Given the description of an element on the screen output the (x, y) to click on. 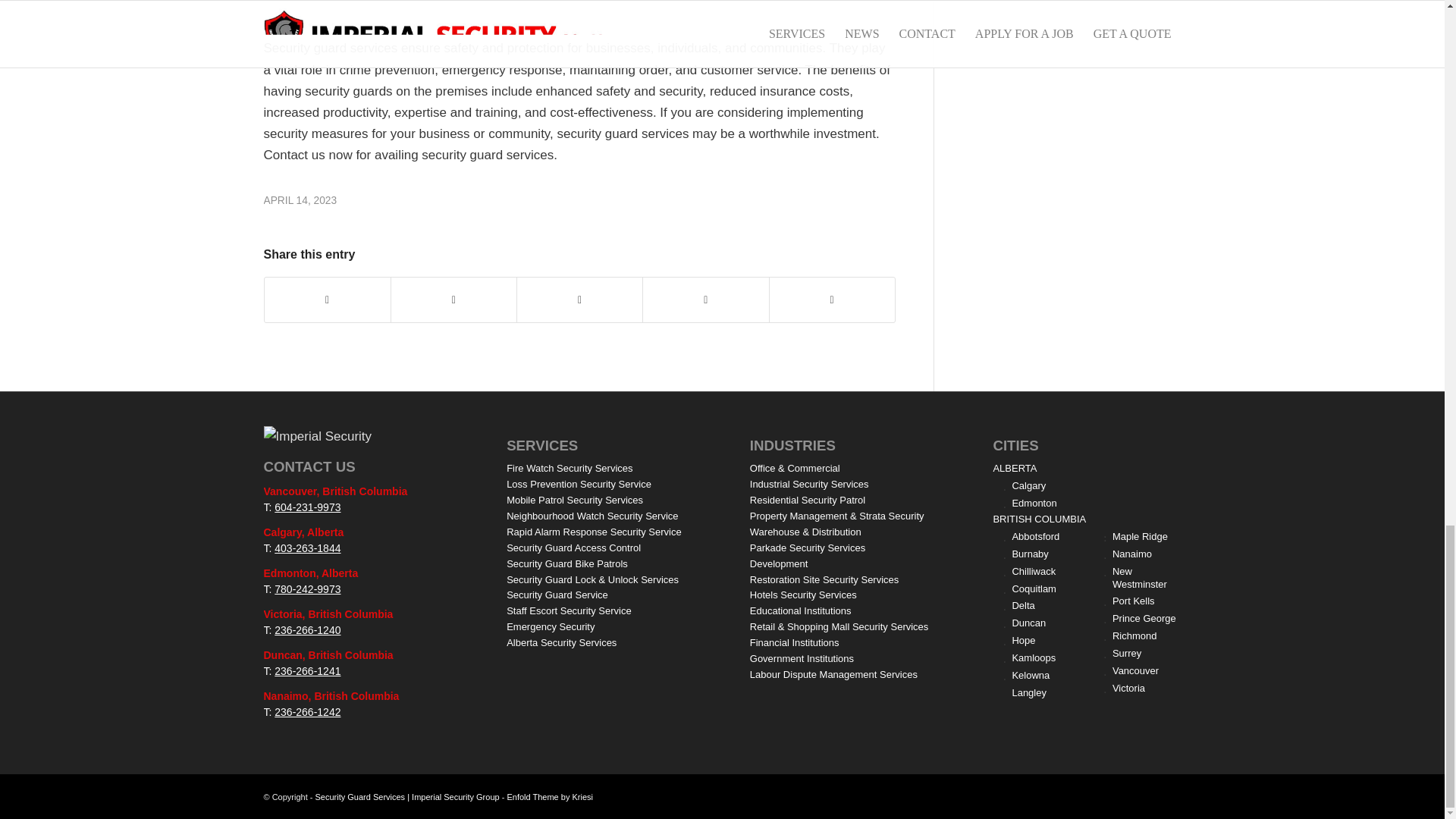
604-231-9973 (307, 507)
403-263-1844 (307, 548)
780-242-9973 (307, 589)
